Given the description of an element on the screen output the (x, y) to click on. 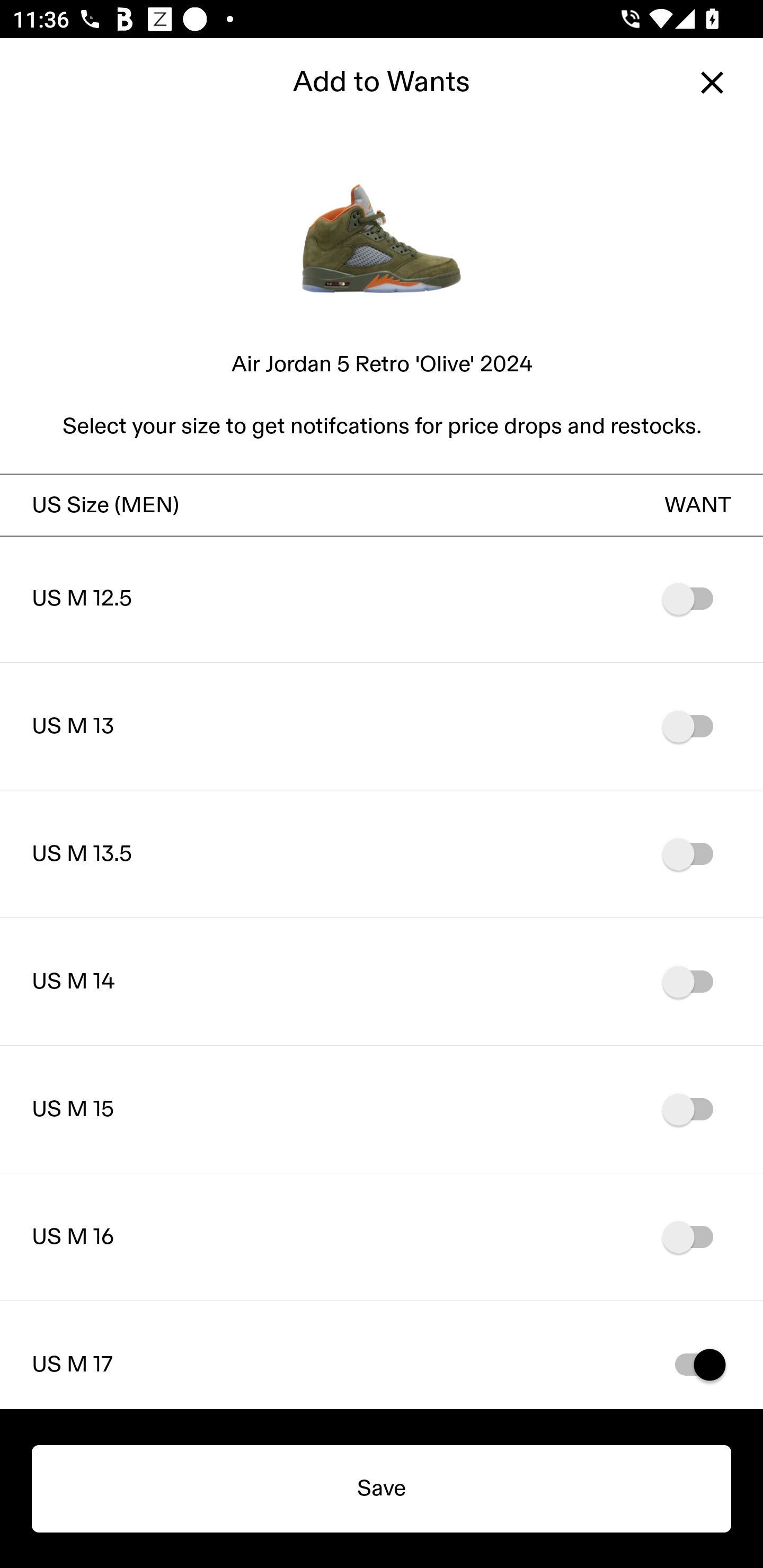
Save (381, 1488)
